Given the description of an element on the screen output the (x, y) to click on. 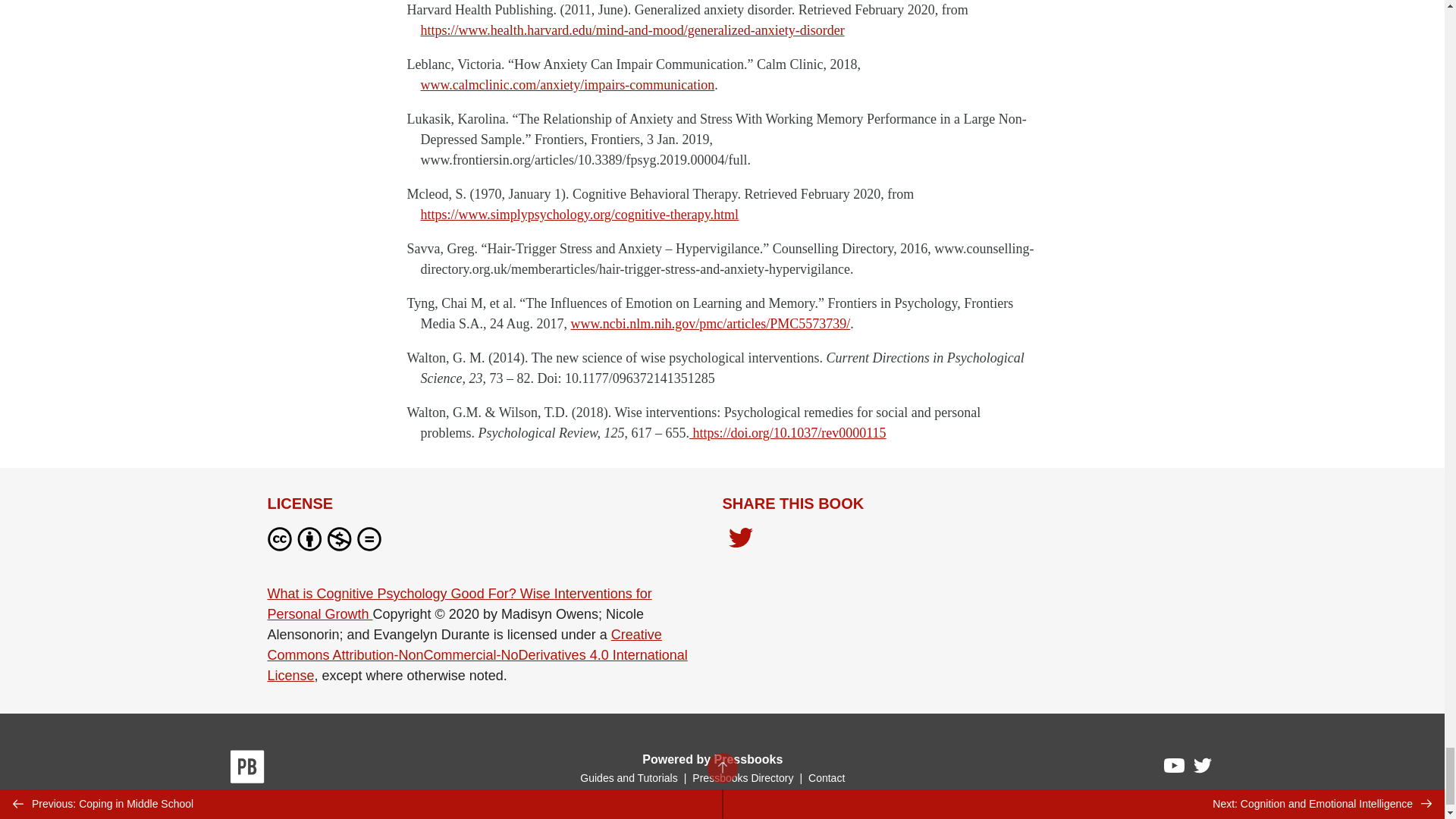
Powered by Pressbooks (712, 758)
Share on Twitter (740, 539)
Contact (826, 777)
Pressbooks on Twitter (1202, 769)
Pressbooks on YouTube (1174, 769)
Guides and Tutorials (627, 777)
Pressbooks (247, 769)
Share on Twitter (740, 541)
Pressbooks Directory (742, 777)
